Given the description of an element on the screen output the (x, y) to click on. 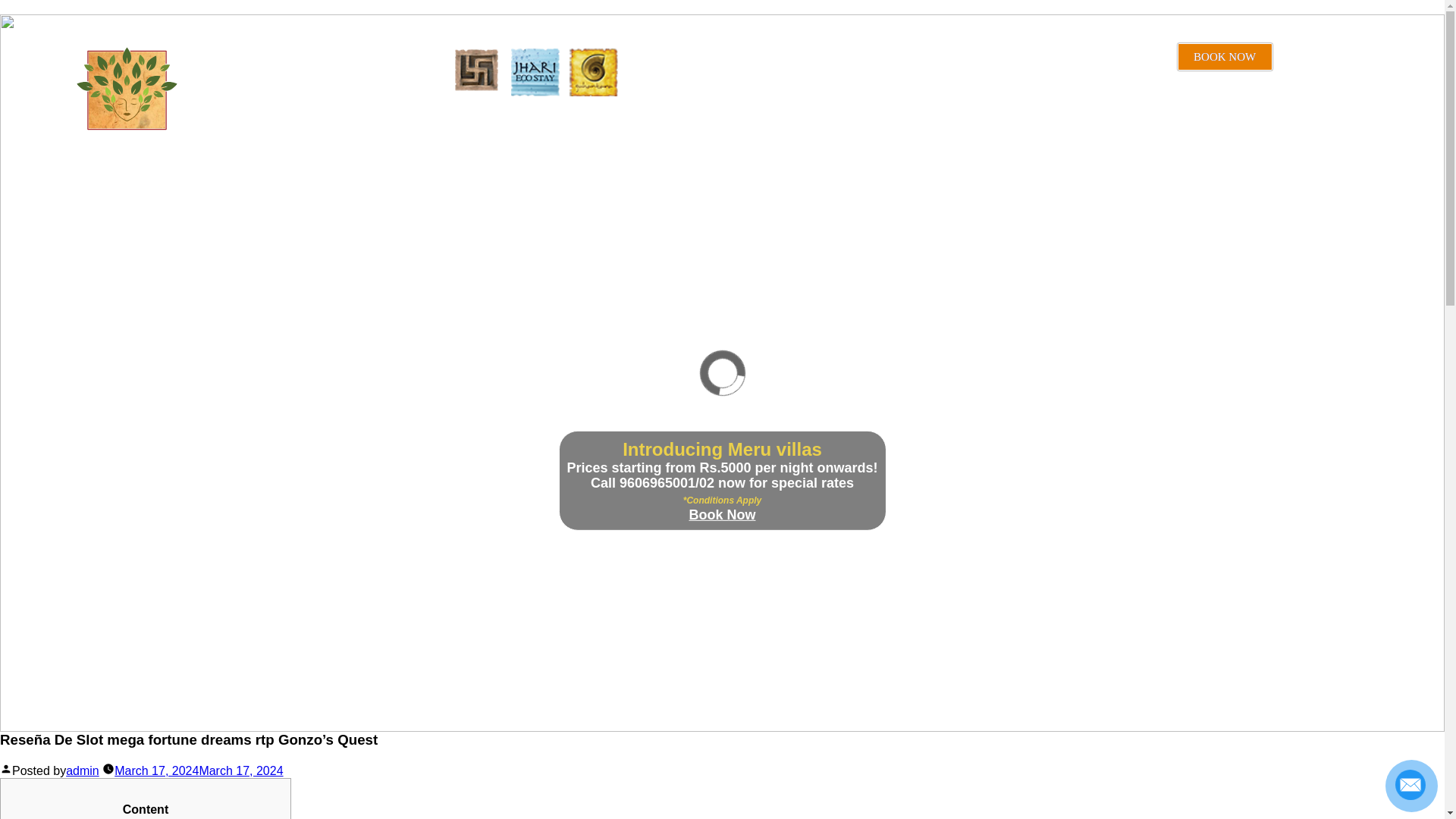
admin (82, 770)
March 17, 2024March 17, 2024 (198, 770)
Book Now (721, 513)
BOOK NOW (1224, 56)
